Given the description of an element on the screen output the (x, y) to click on. 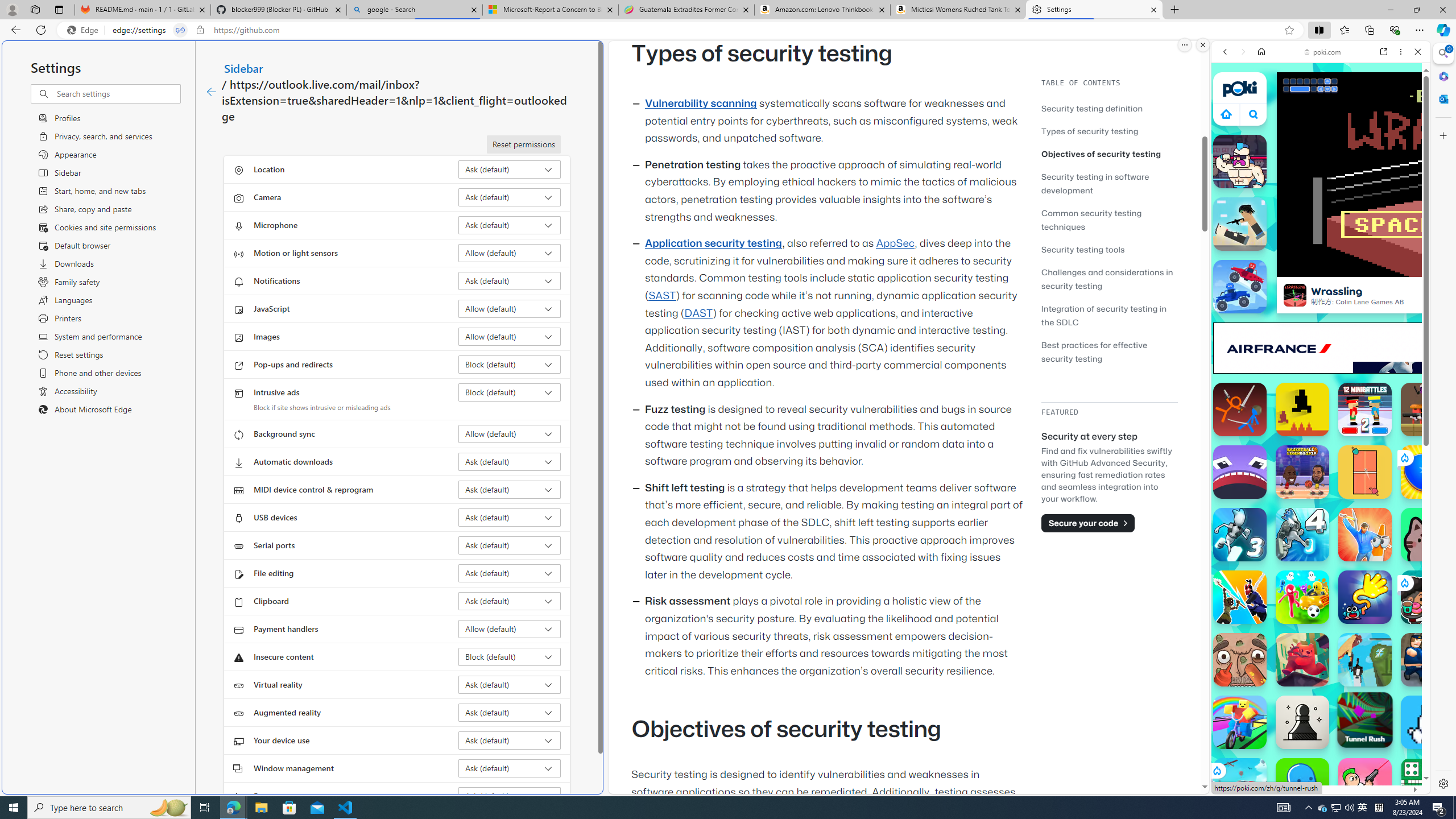
DAST (698, 312)
Combat Reloaded (1348, 574)
Vulnerability scanning (701, 103)
Simply Prop Hunt (1364, 534)
AppSec (895, 243)
Location Ask (default) (509, 169)
Search settings (117, 93)
Tabs in split screen (180, 29)
Go back to Sidebar page. (210, 91)
Insecure content Block (default) (509, 656)
Security testing in software development (1094, 182)
USB devices Ask (default) (509, 517)
